Given the description of an element on the screen output the (x, y) to click on. 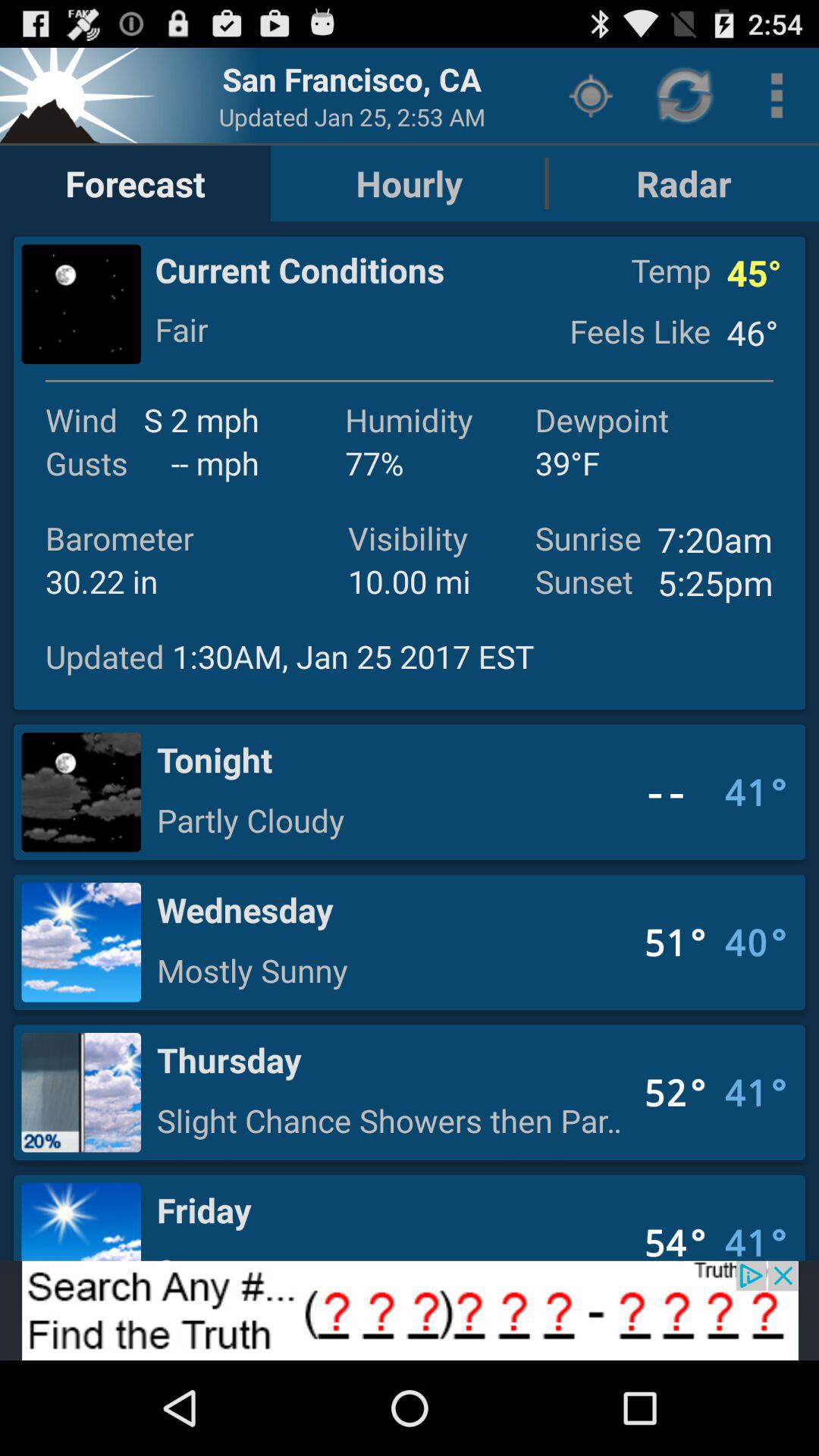
advert pop up (409, 1310)
